Given the description of an element on the screen output the (x, y) to click on. 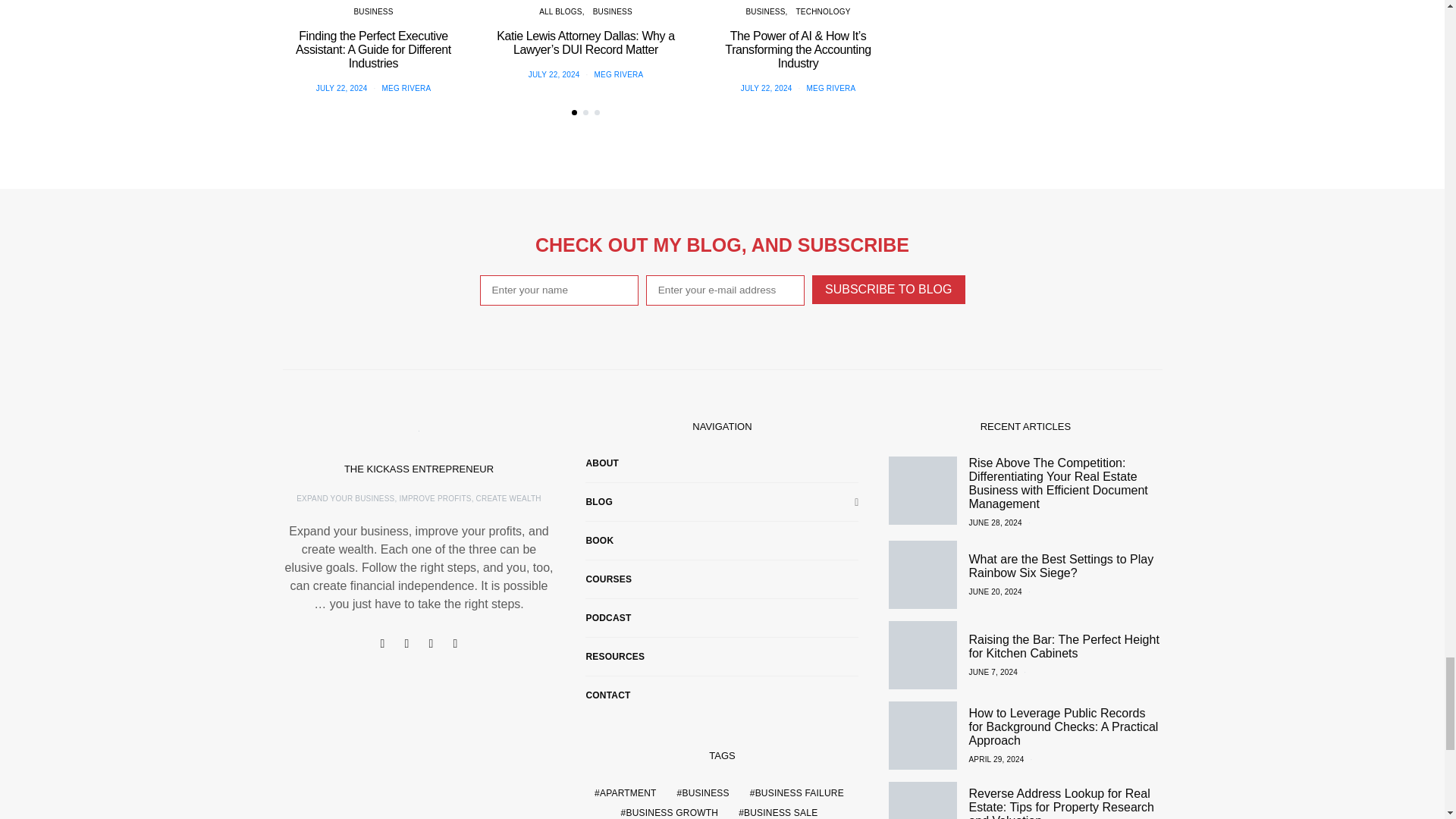
View all posts by Meg Rivera (618, 74)
SUBSCRIBE TO BLOG (887, 289)
View all posts by Meg Rivera (405, 88)
View all posts by Meg Rivera (831, 88)
